Given the description of an element on the screen output the (x, y) to click on. 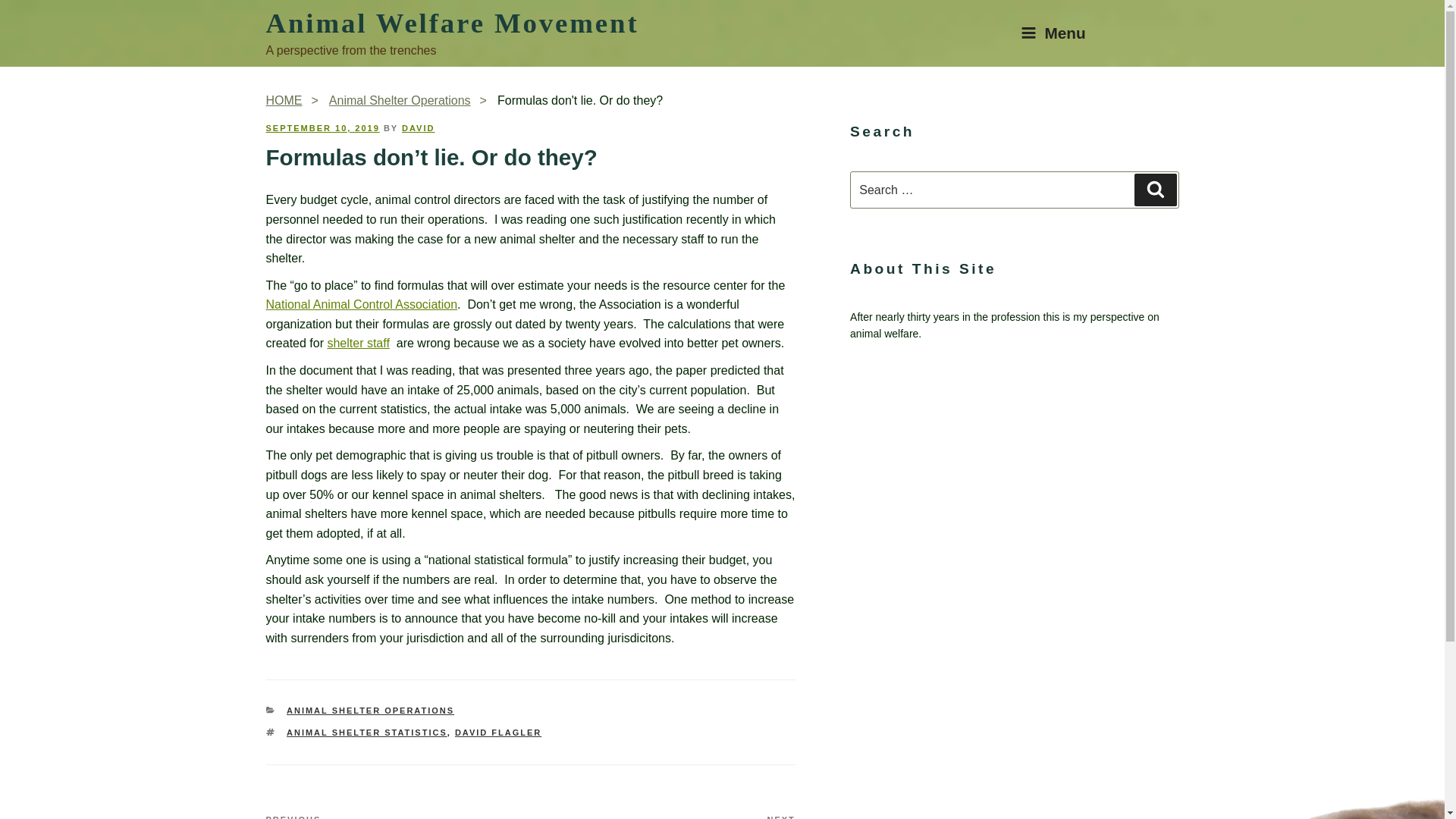
National Animal Control Association (360, 304)
DAVID FLAGLER (497, 732)
Search (1155, 189)
shelter staff (662, 816)
HOME (357, 342)
SEPTEMBER 10, 2019 (296, 100)
Menu (396, 816)
DAVID (321, 127)
ANIMAL SHELTER OPERATIONS (1052, 33)
Animal Welfare Movement (417, 127)
Animal Shelter Operations (370, 709)
ANIMAL SHELTER STATISTICS (451, 22)
